Given the description of an element on the screen output the (x, y) to click on. 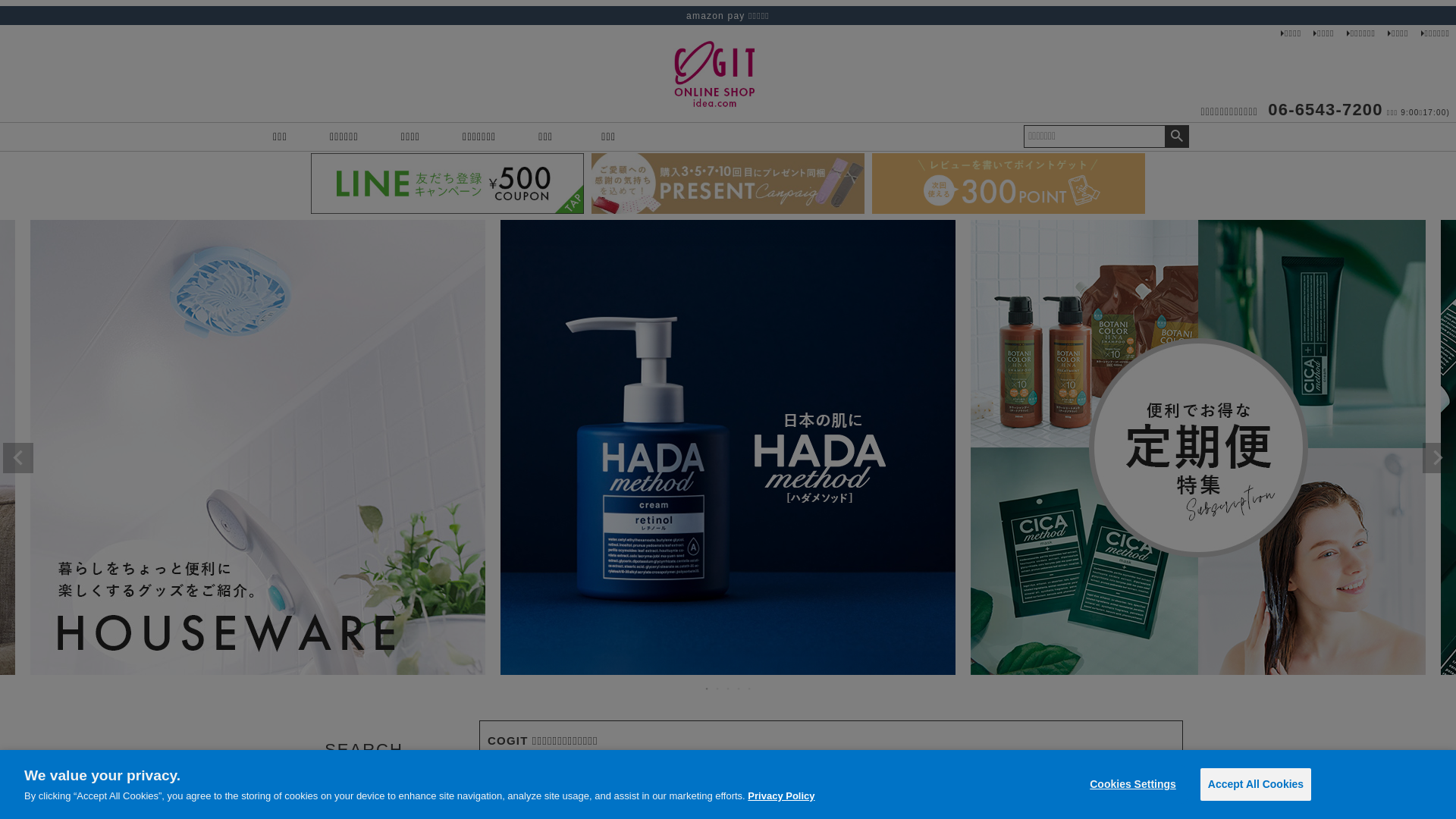
4 Element type: text (739, 688)
5 Element type: text (749, 688)
1 Element type: text (707, 688)
Next Element type: text (1437, 457)
2 Element type: text (717, 688)
3 Element type: text (728, 688)
Previous Element type: text (18, 457)
